Given the description of an element on the screen output the (x, y) to click on. 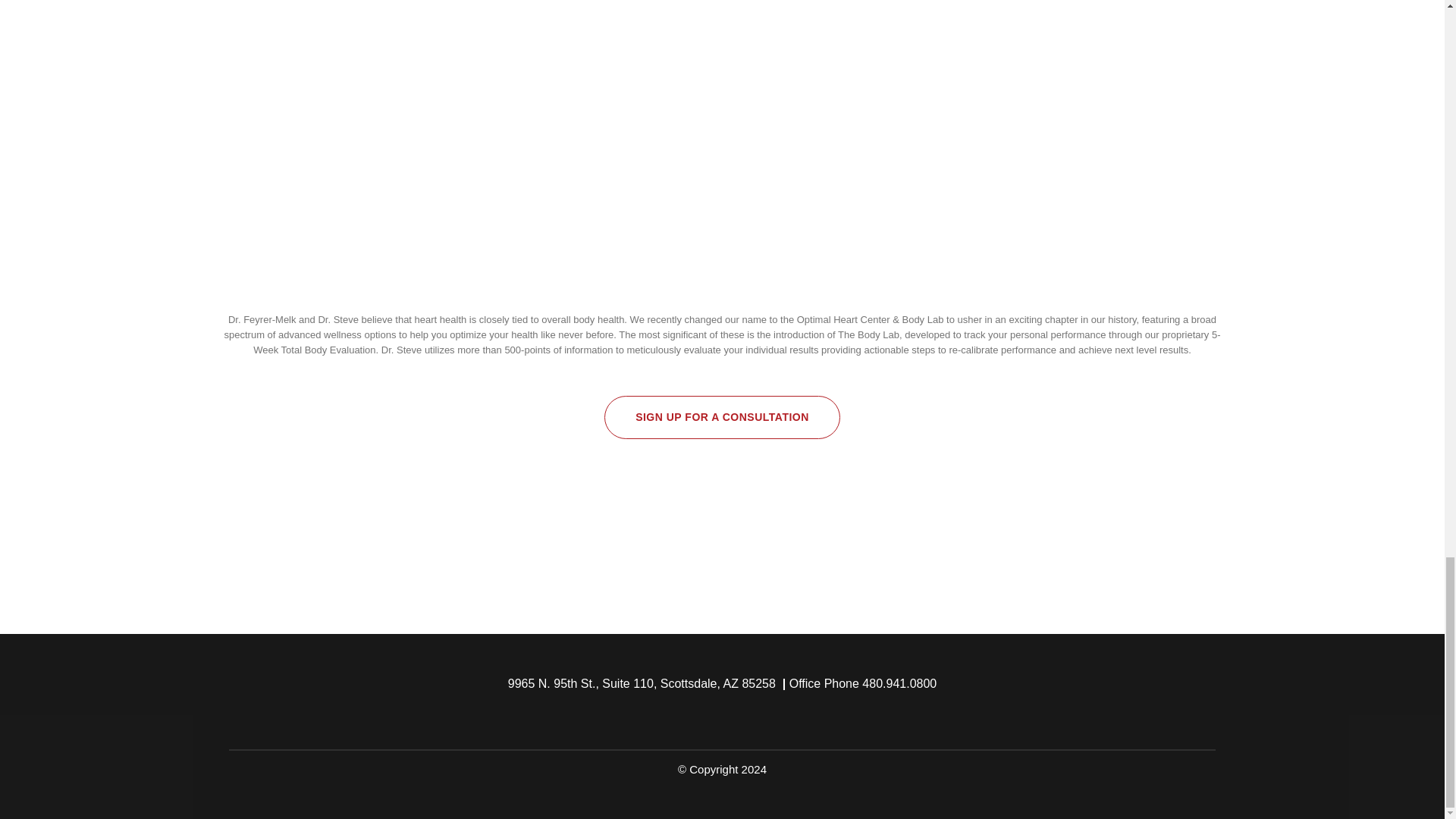
SIGN UP FOR A CONSULTATION (722, 416)
